Given the description of an element on the screen output the (x, y) to click on. 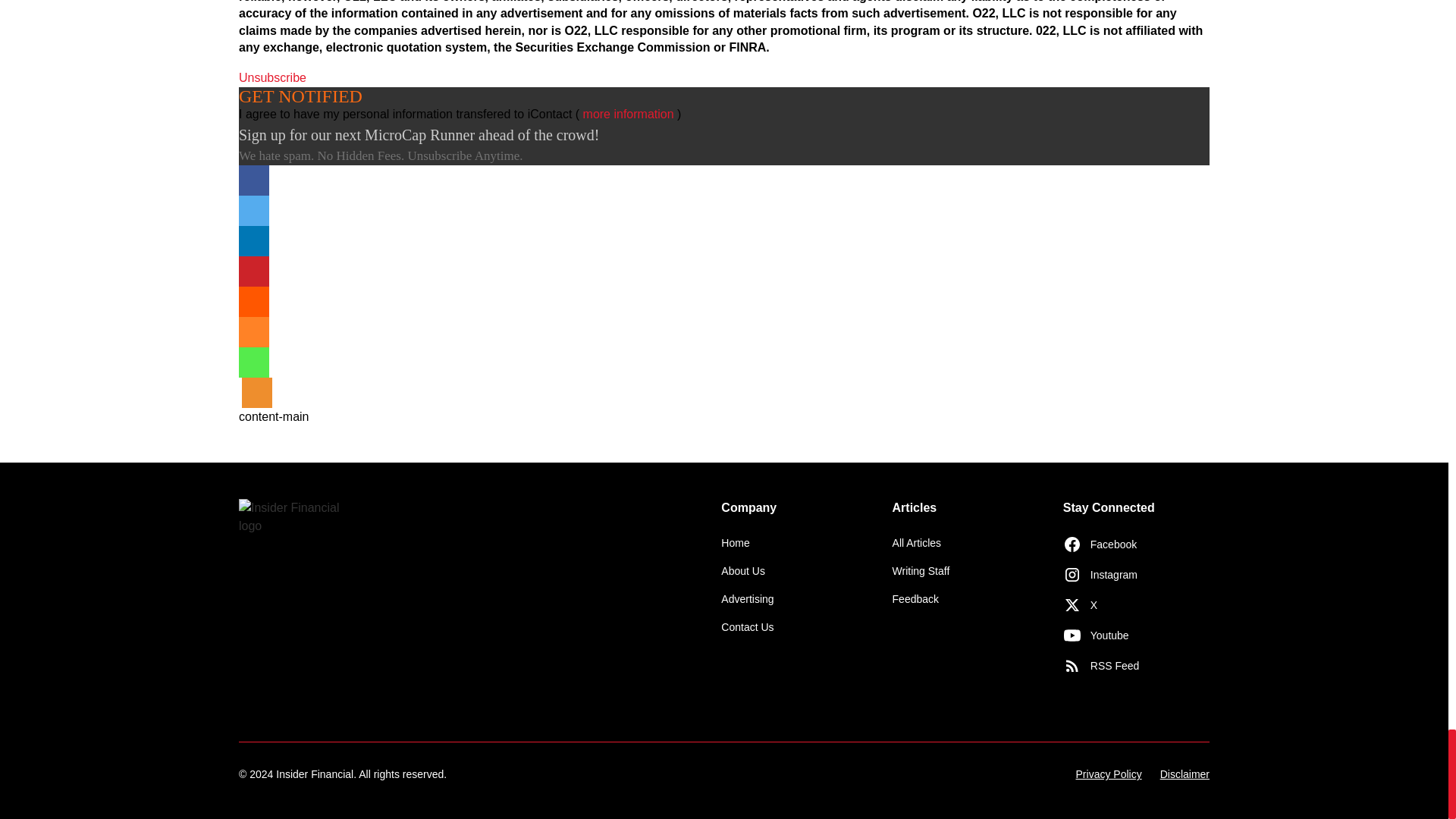
Twitter (253, 210)
More (256, 392)
Pinterest (253, 271)
more information (628, 113)
Unsubscribe (271, 77)
Reddit (253, 301)
Linkedin (253, 241)
Mix (253, 331)
Facebook (253, 180)
Whatsapp (253, 362)
